Given the description of an element on the screen output the (x, y) to click on. 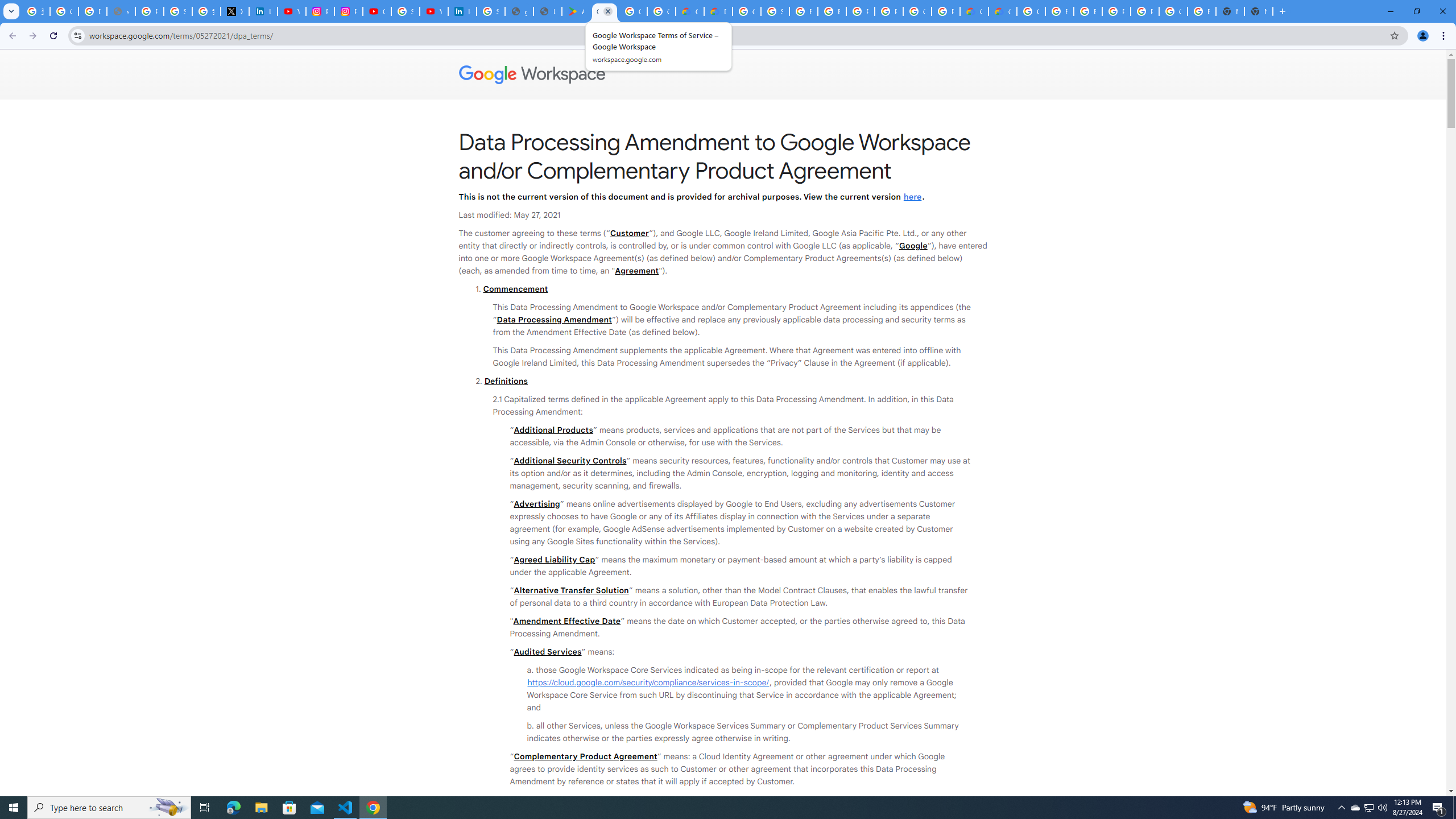
here (912, 196)
X (234, 11)
Sign in - Google Accounts (405, 11)
User Details (547, 11)
Google Cloud Estimate Summary (1002, 11)
YouTube Content Monetization Policies - How YouTube Works (291, 11)
Google Cloud Platform (1030, 11)
Google Workspace - Specific Terms (632, 11)
